Given the description of an element on the screen output the (x, y) to click on. 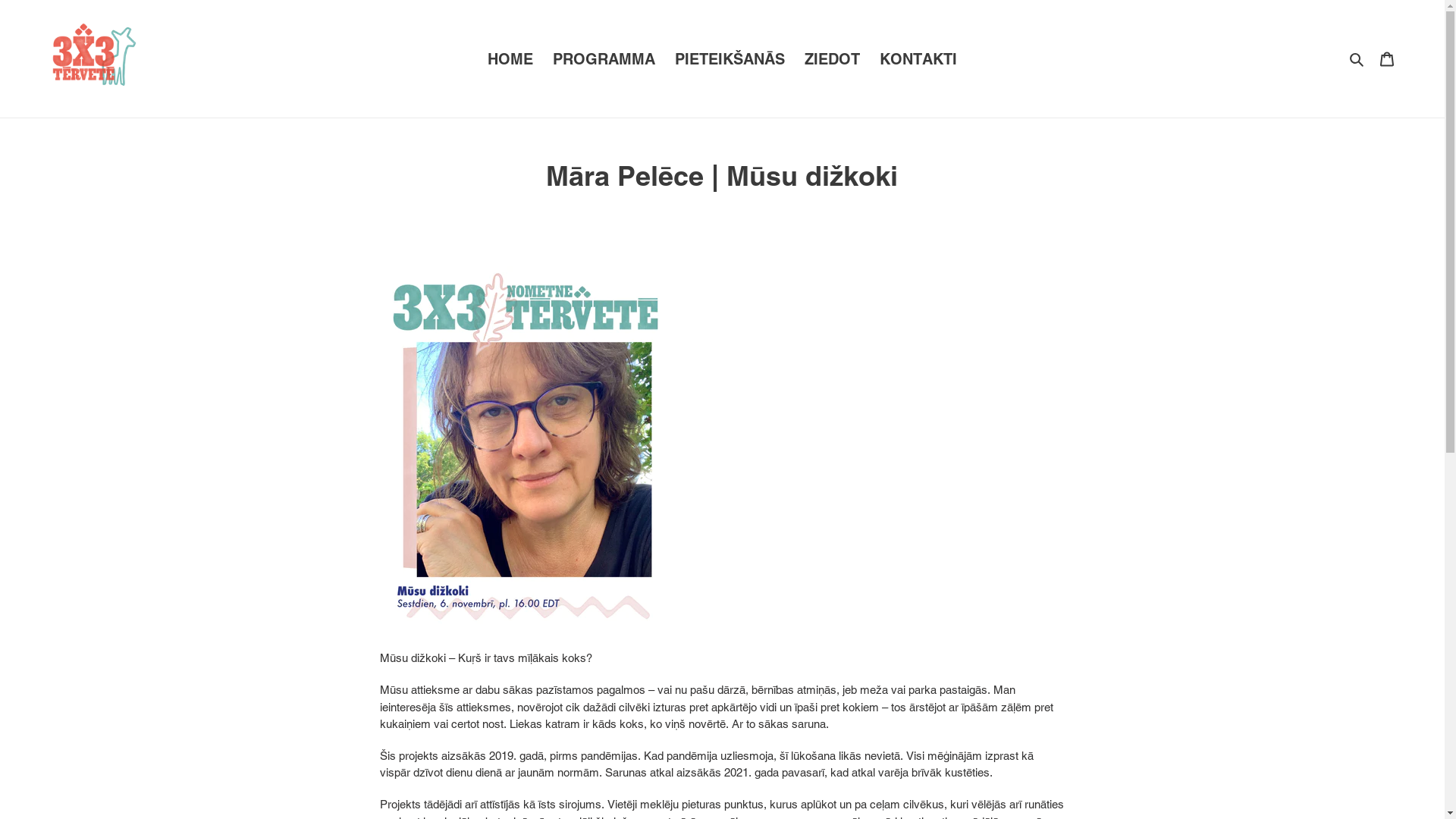
PROGRAMMA Element type: text (603, 58)
Search Element type: text (1357, 58)
HOME Element type: text (510, 58)
ZIEDOT Element type: text (832, 58)
KONTAKTI Element type: text (918, 58)
Cart Element type: text (1386, 58)
